Given the description of an element on the screen output the (x, y) to click on. 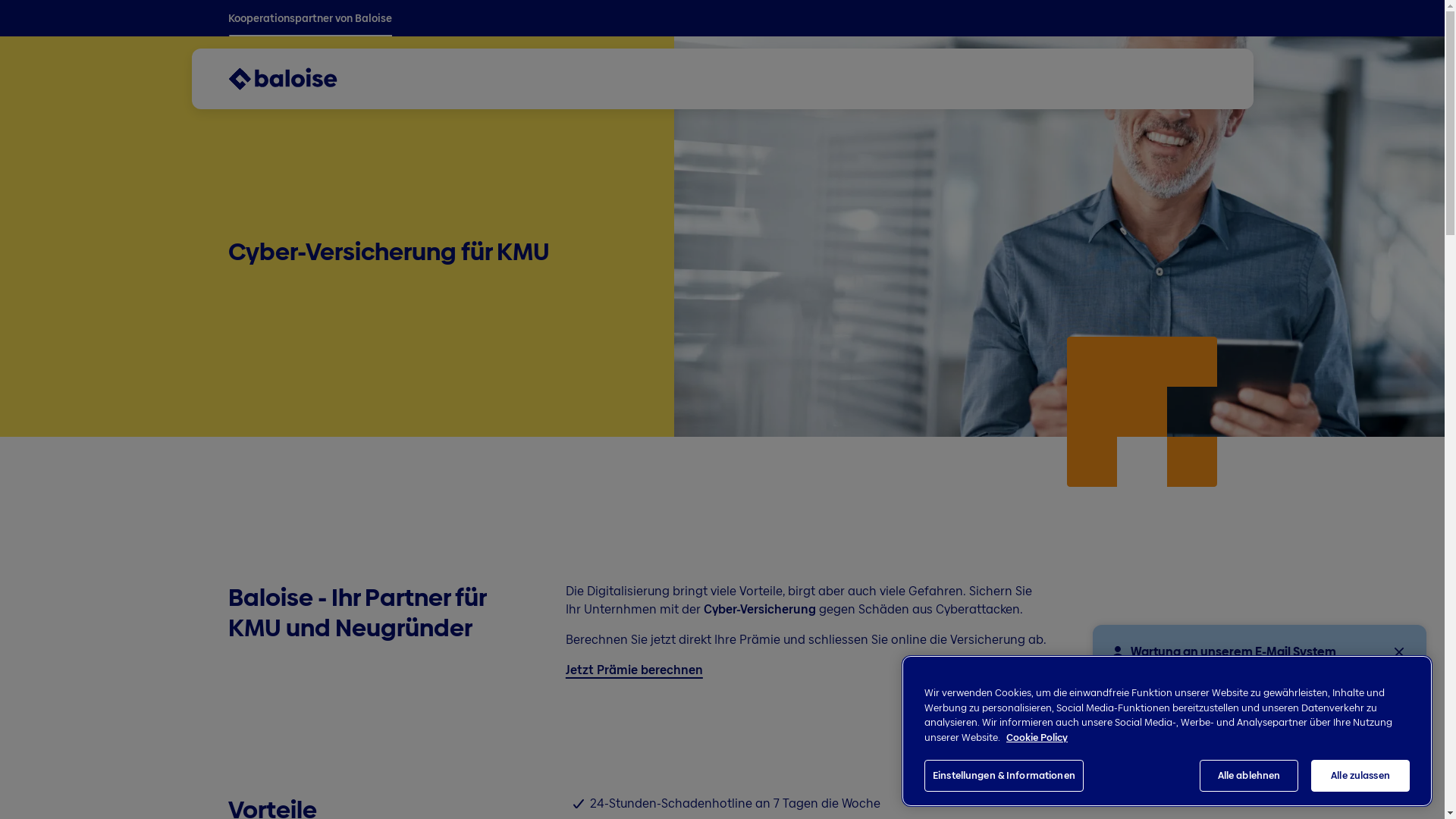
Cookie Policy Element type: text (1036, 736)
gryps cyber Element type: hover (1061, 218)
Alle ablehnen Element type: text (1248, 775)
Kooperationspartner von Baloise Element type: text (309, 18)
Ok Element type: text (1138, 764)
Schliessen Element type: hover (1399, 652)
Alle zulassen Element type: text (1360, 775)
Einstellungen & Informationen Element type: text (1003, 775)
